Given the description of an element on the screen output the (x, y) to click on. 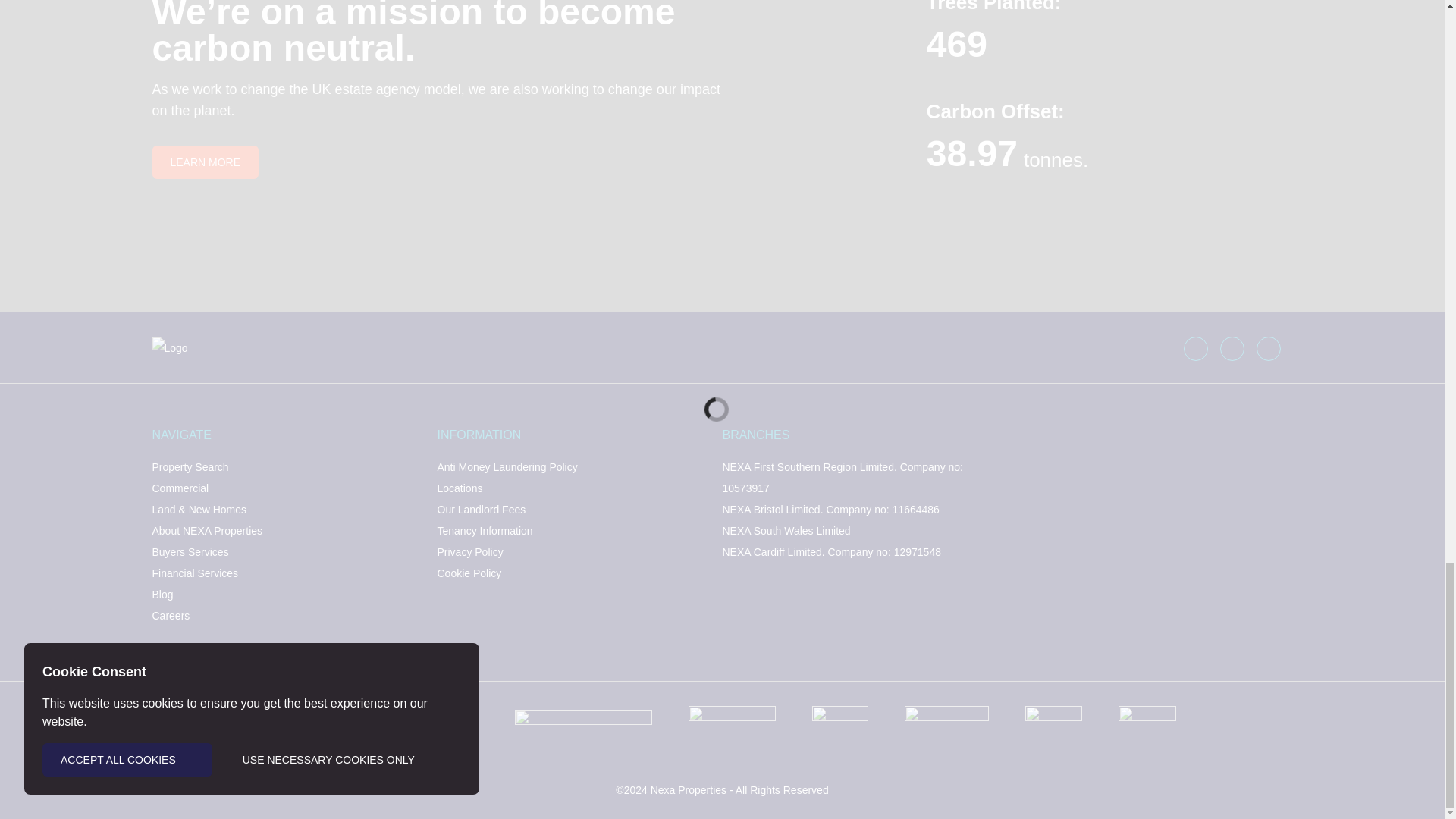
38.97 (971, 153)
469 (956, 44)
